Given the description of an element on the screen output the (x, y) to click on. 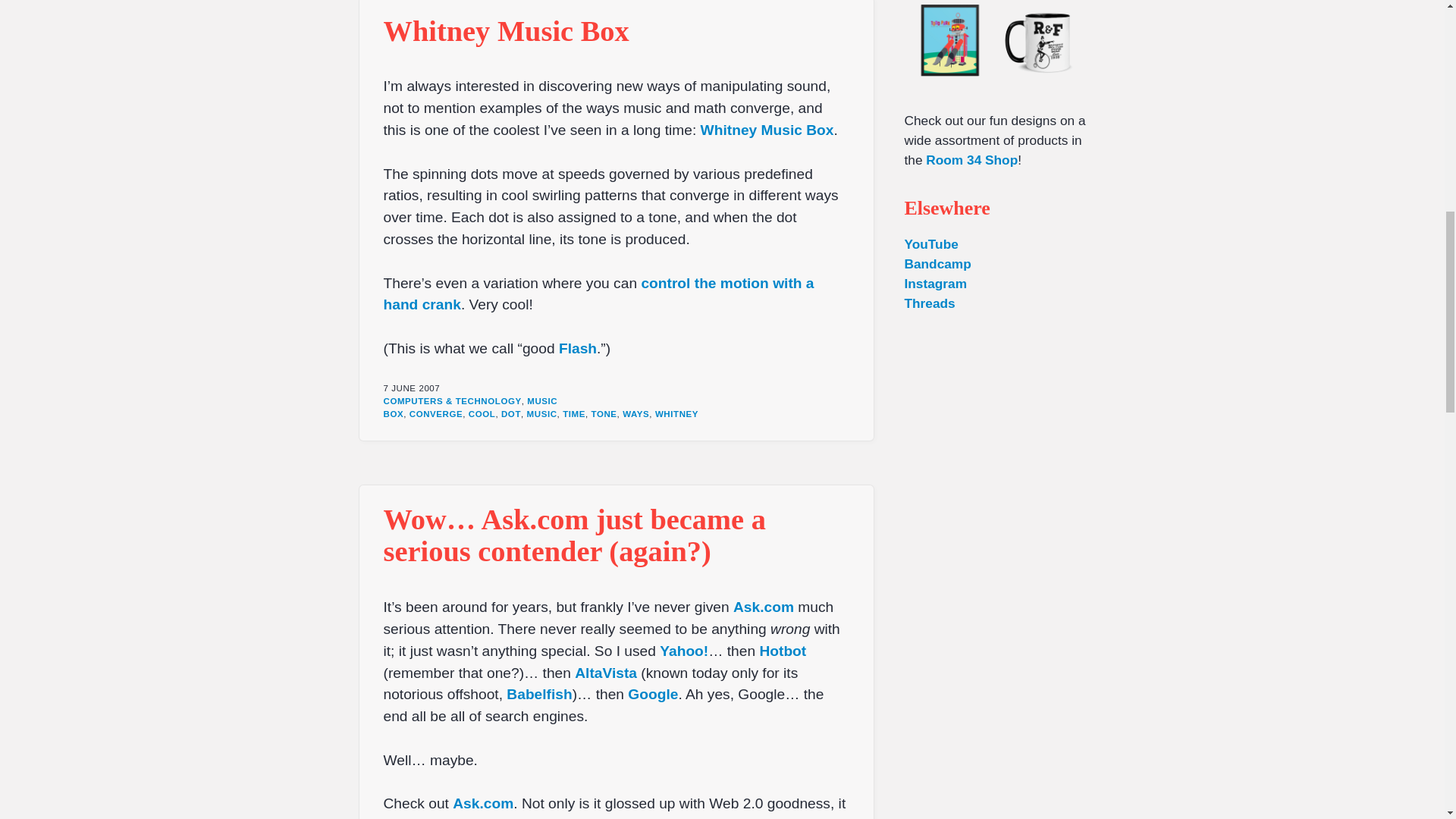
BOX (394, 413)
TONE (604, 413)
Whitney Music Box (767, 130)
Yahoo! (683, 650)
WHITNEY (676, 413)
Ask.com (763, 606)
TIME (573, 413)
Flash (577, 348)
Ask.com (482, 803)
DOT (510, 413)
